Given the description of an element on the screen output the (x, y) to click on. 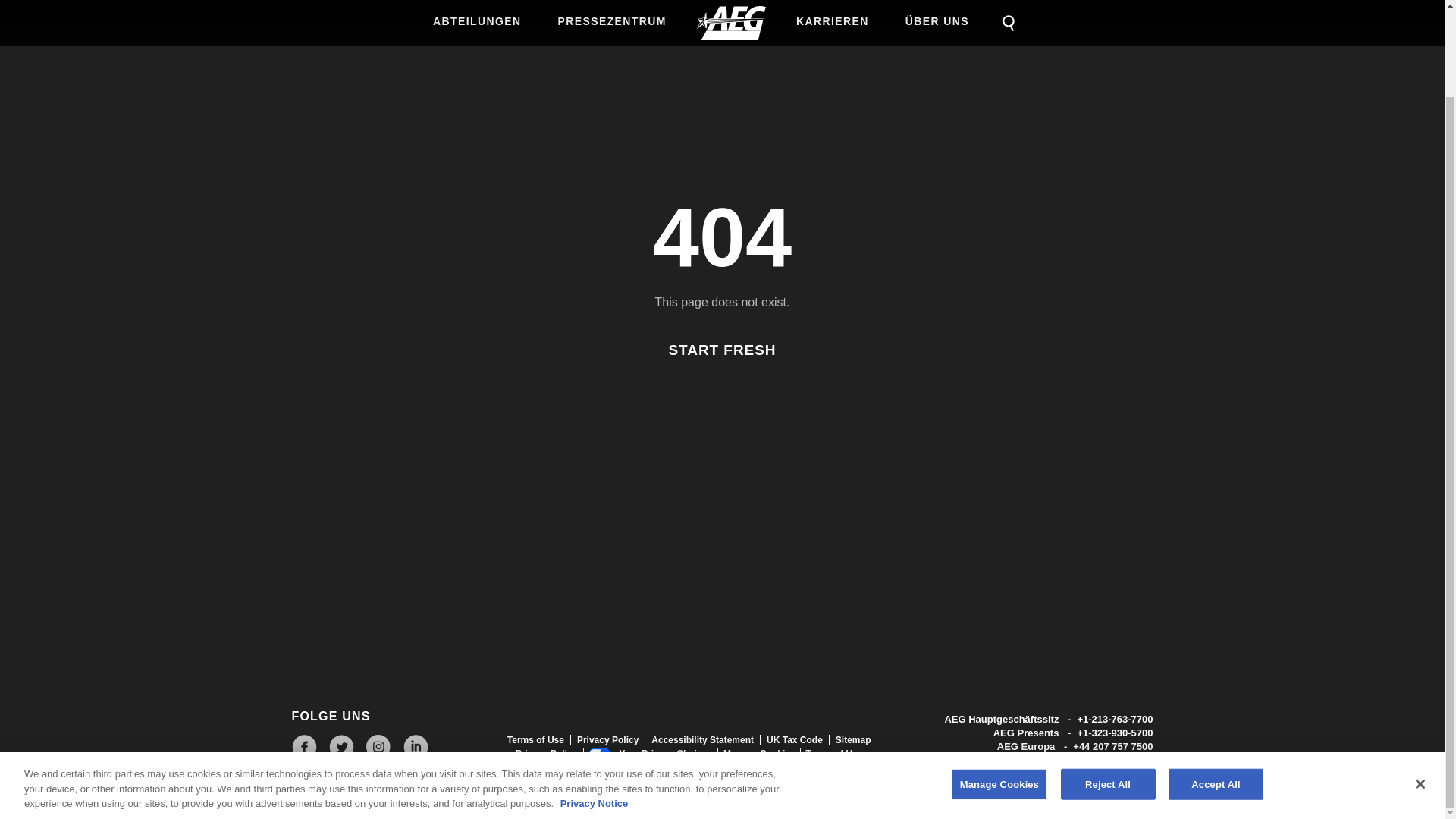
twitter (341, 746)
instagram (377, 746)
linkedin (415, 746)
facebook (303, 746)
